Given the description of an element on the screen output the (x, y) to click on. 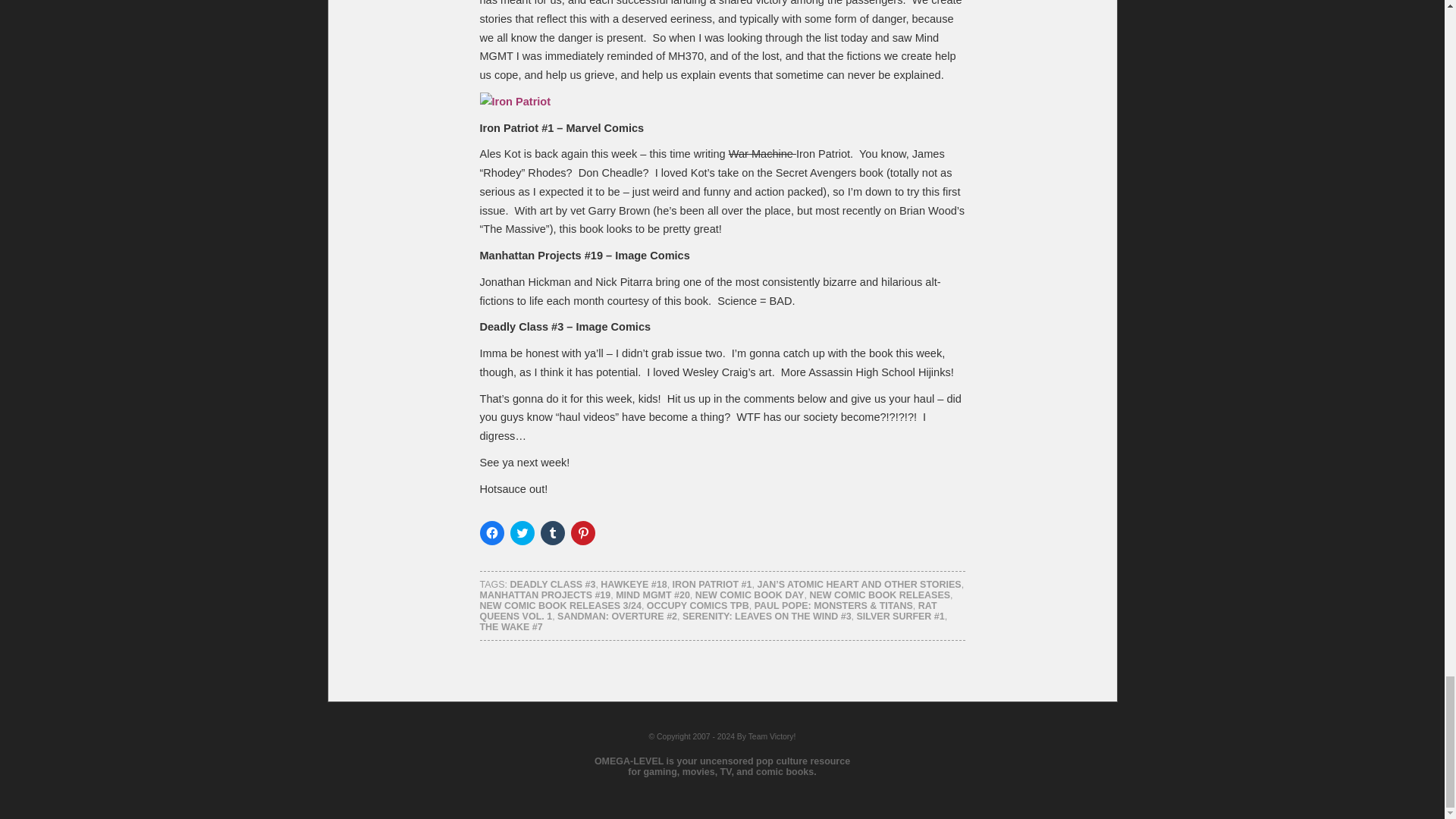
Click to share on Tumblr (552, 532)
Click to share on Facebook (491, 532)
Click to share on Twitter (521, 532)
Click to share on Pinterest (582, 532)
